Given the description of an element on the screen output the (x, y) to click on. 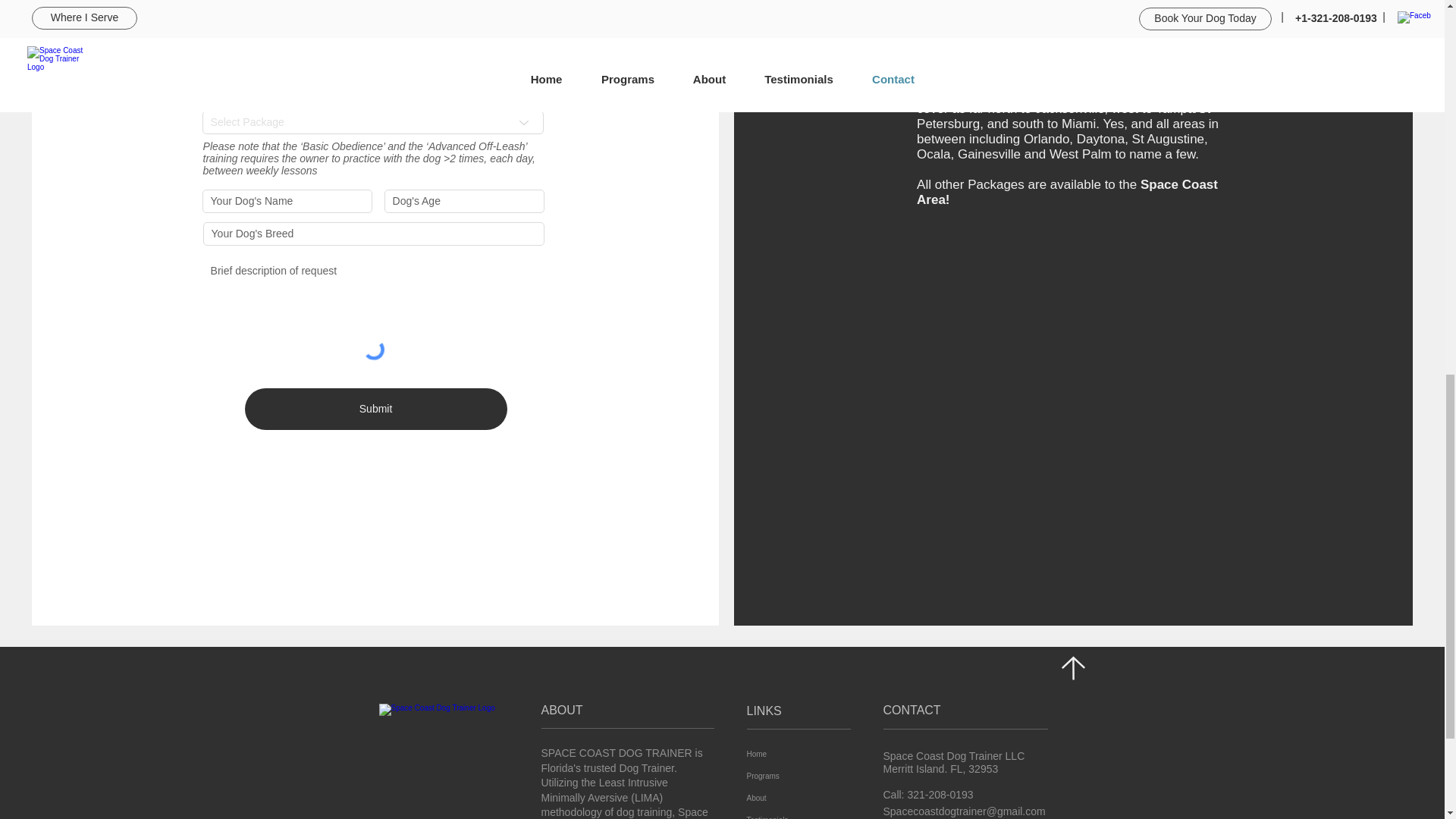
About (779, 798)
Home (779, 753)
Submit (375, 408)
Testimonials (779, 814)
321-208-0193 (939, 794)
Space Coast Dog Trainer Logo (437, 757)
Programs (779, 775)
